Given the description of an element on the screen output the (x, y) to click on. 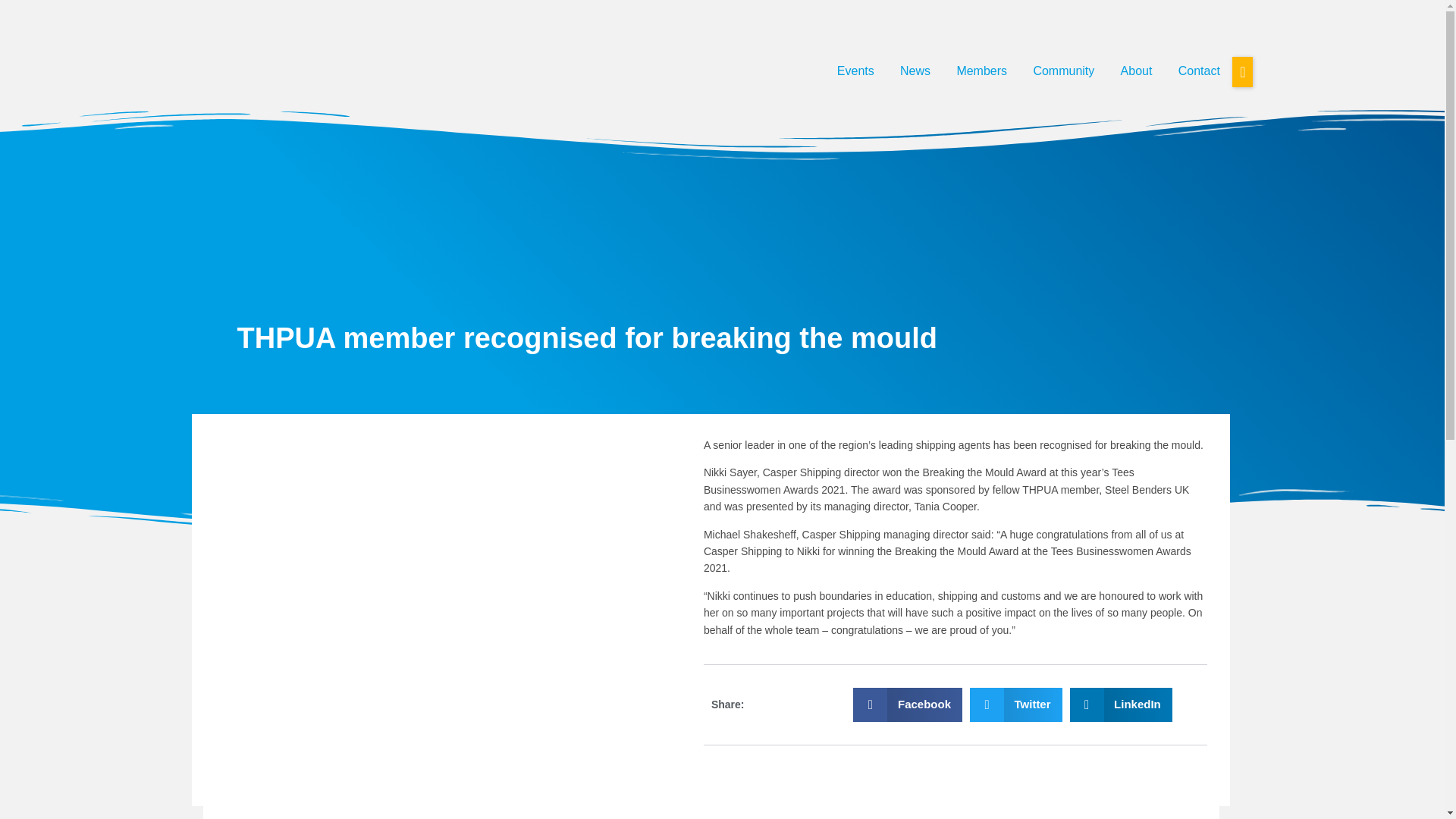
Contact (1199, 71)
Community (1063, 71)
About (1136, 71)
Members (980, 71)
Events (855, 71)
News (915, 71)
